Given the description of an element on the screen output the (x, y) to click on. 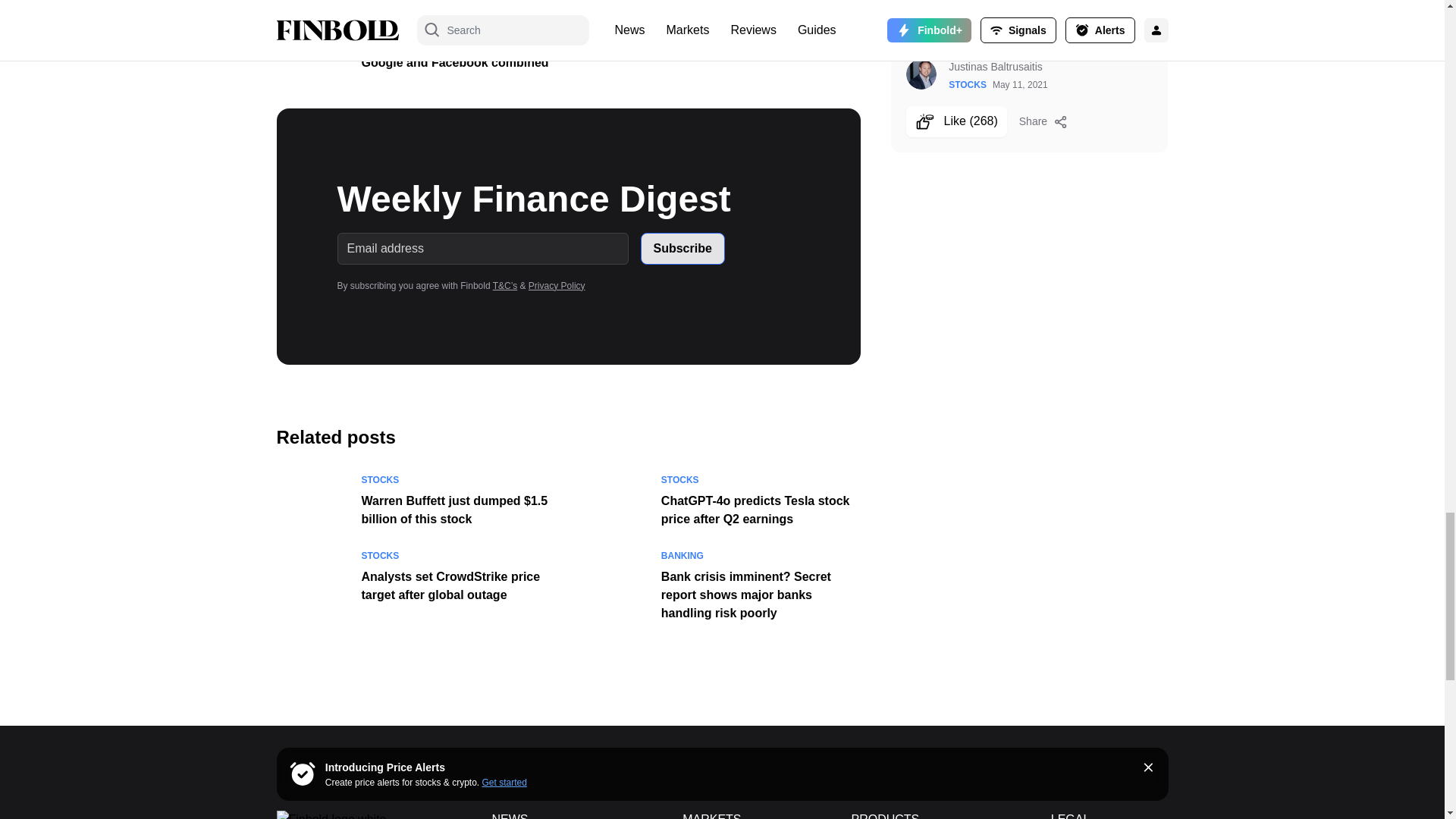
ChatGPT-4o predicts Tesla stock price after Q2 earnings (755, 509)
